Given the description of an element on the screen output the (x, y) to click on. 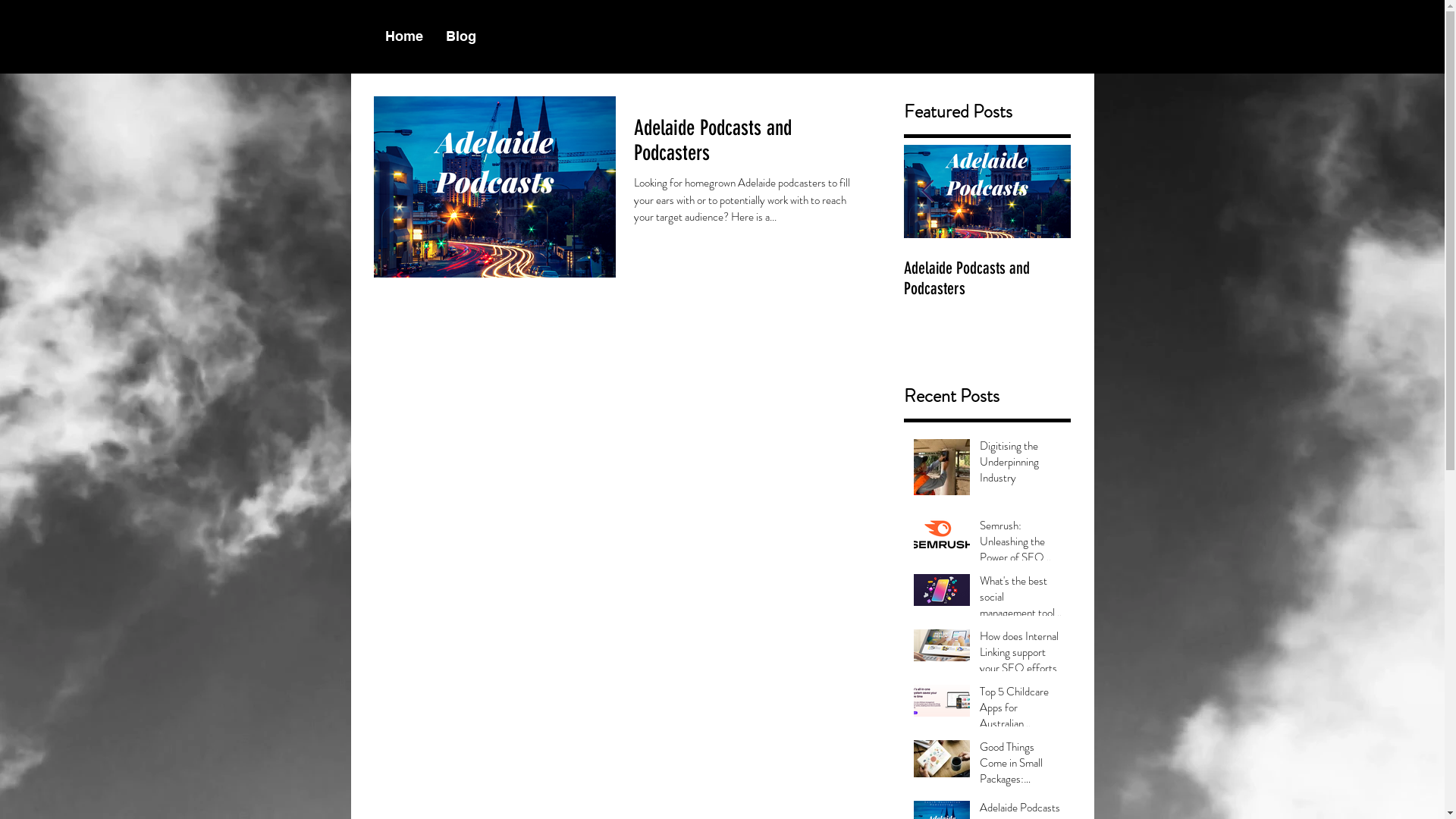
Blog Element type: text (459, 36)
Adelaide Podcasts and Podcasters Element type: text (986, 277)
What's the best social management tool for business in 2023? Element type: text (1020, 600)
Top 5 Childcare Apps for Australian Childcare Centres Element type: text (1020, 710)
How does Internal Linking support your SEO efforts Element type: text (1020, 655)
Digitising the Underpinning Industry Element type: text (1020, 465)
Home Element type: text (403, 36)
Adelaide Podcasts and Podcasters Element type: text (748, 144)
